Given the description of an element on the screen output the (x, y) to click on. 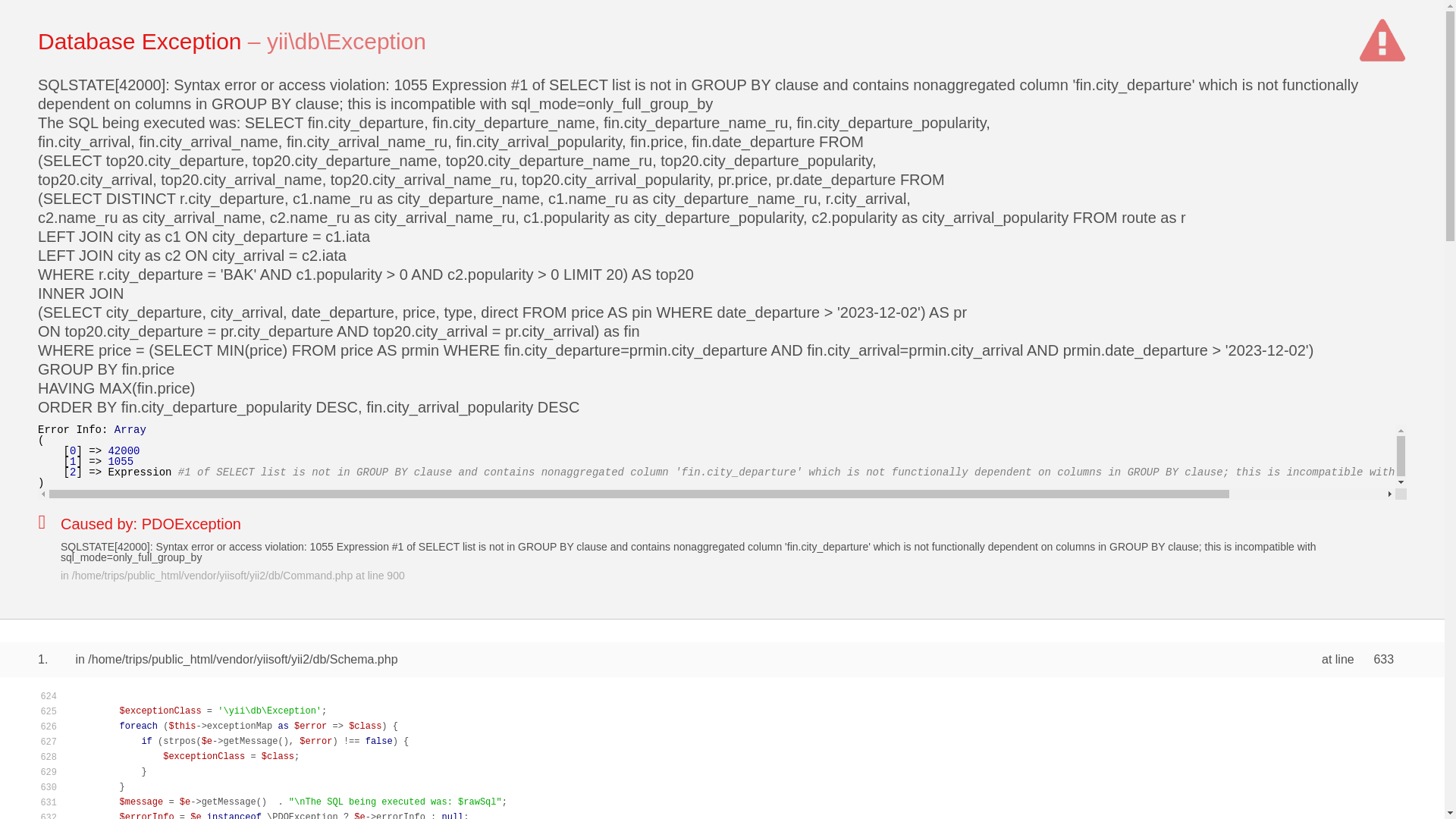
yii\db\Exception Element type: text (346, 40)
